Given the description of an element on the screen output the (x, y) to click on. 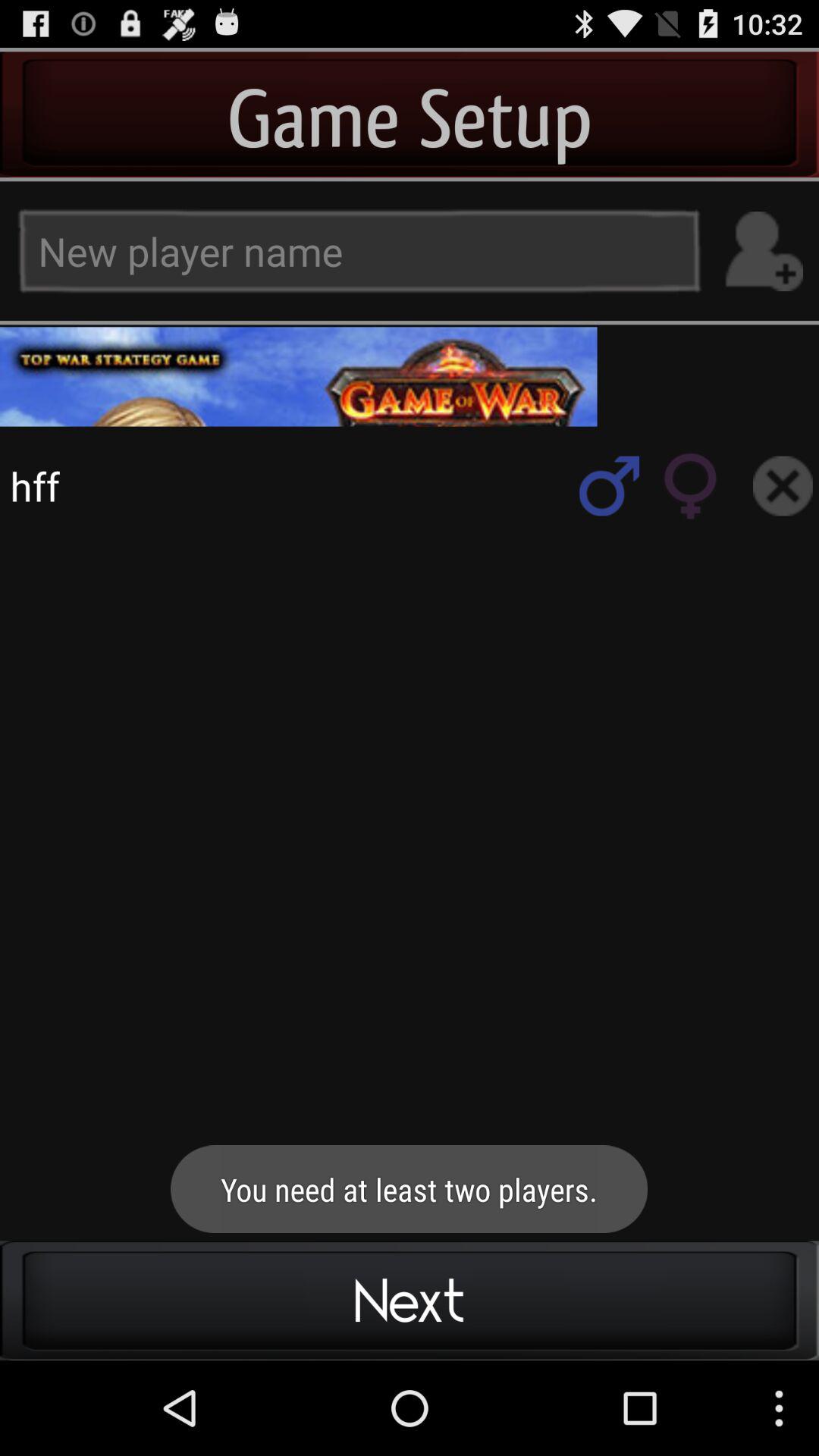
add to favorites (609, 485)
